Given the description of an element on the screen output the (x, y) to click on. 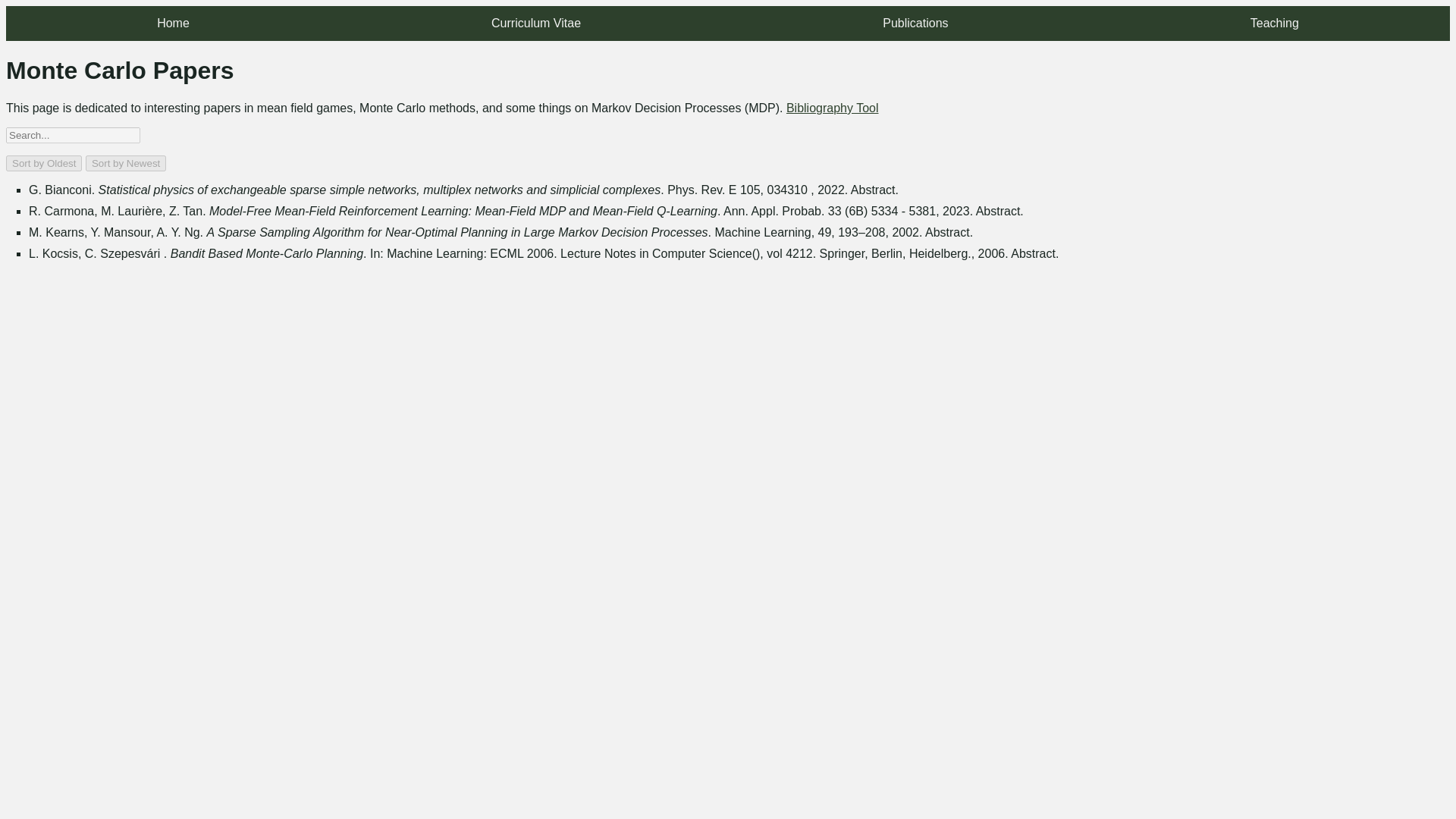
Bibliography Tool (832, 107)
Sort by Oldest (43, 163)
Publications (914, 22)
Teaching (1274, 22)
Abstract (946, 232)
Abstract (997, 210)
Sort by Newest (125, 163)
Curriculum Vitae (535, 22)
Abstract (872, 189)
Home (173, 22)
